Given the description of an element on the screen output the (x, y) to click on. 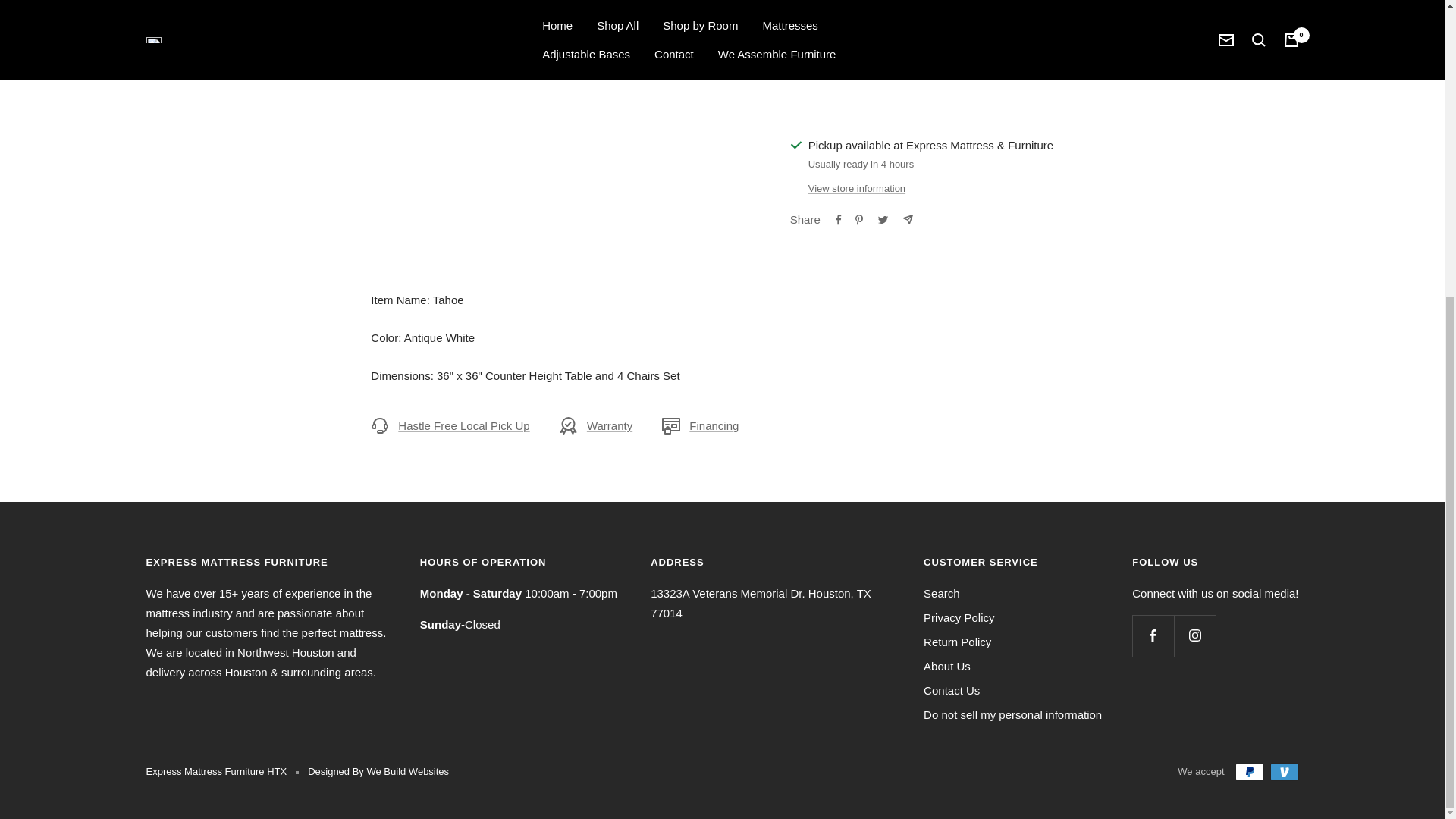
Decrease quantity (807, 6)
Increase quantity (878, 6)
ADD TO CART (1015, 56)
1 (843, 6)
View store information (856, 188)
Zoom (686, 36)
